Given the description of an element on the screen output the (x, y) to click on. 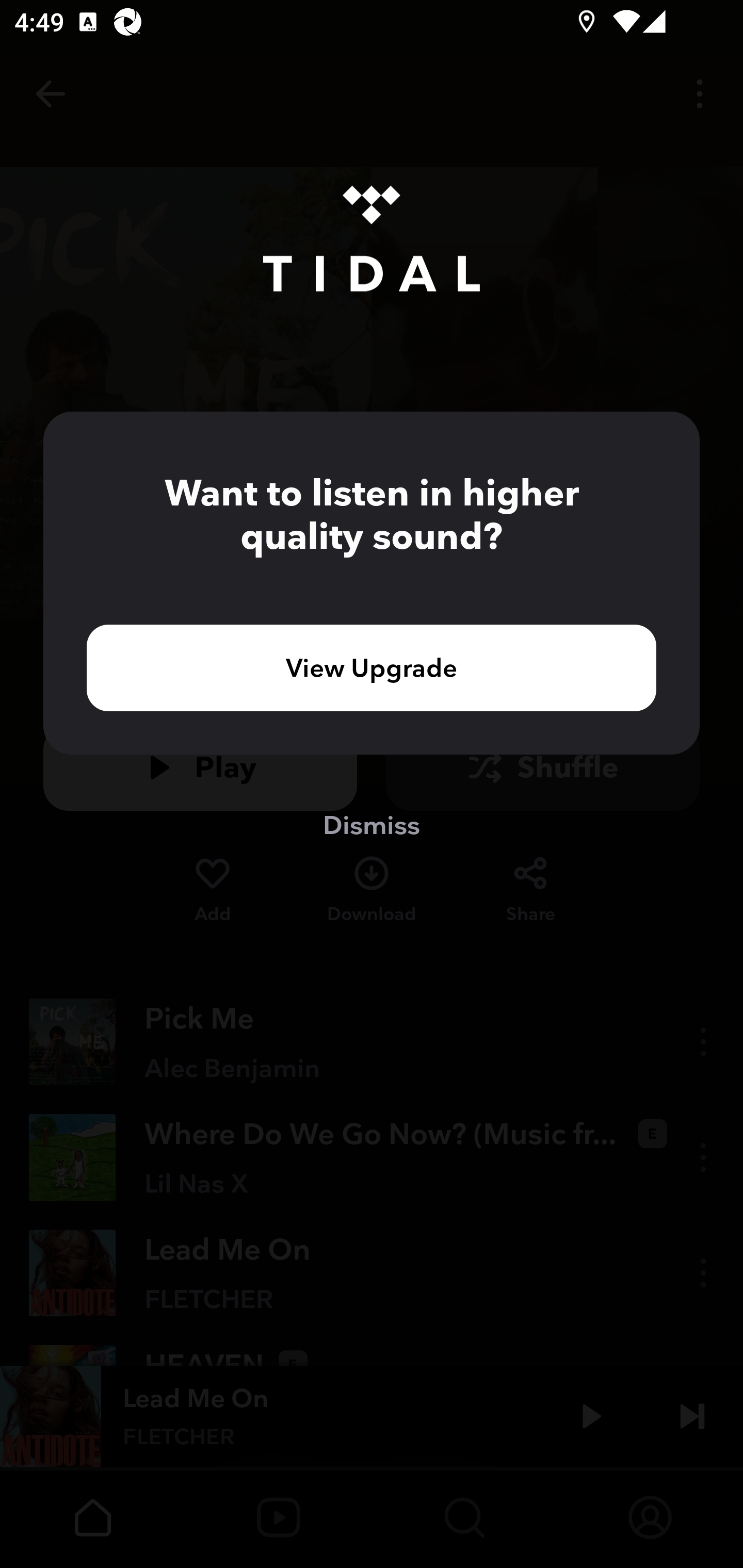
View Upgrade (371, 667)
Dismiss (371, 824)
